Given the description of an element on the screen output the (x, y) to click on. 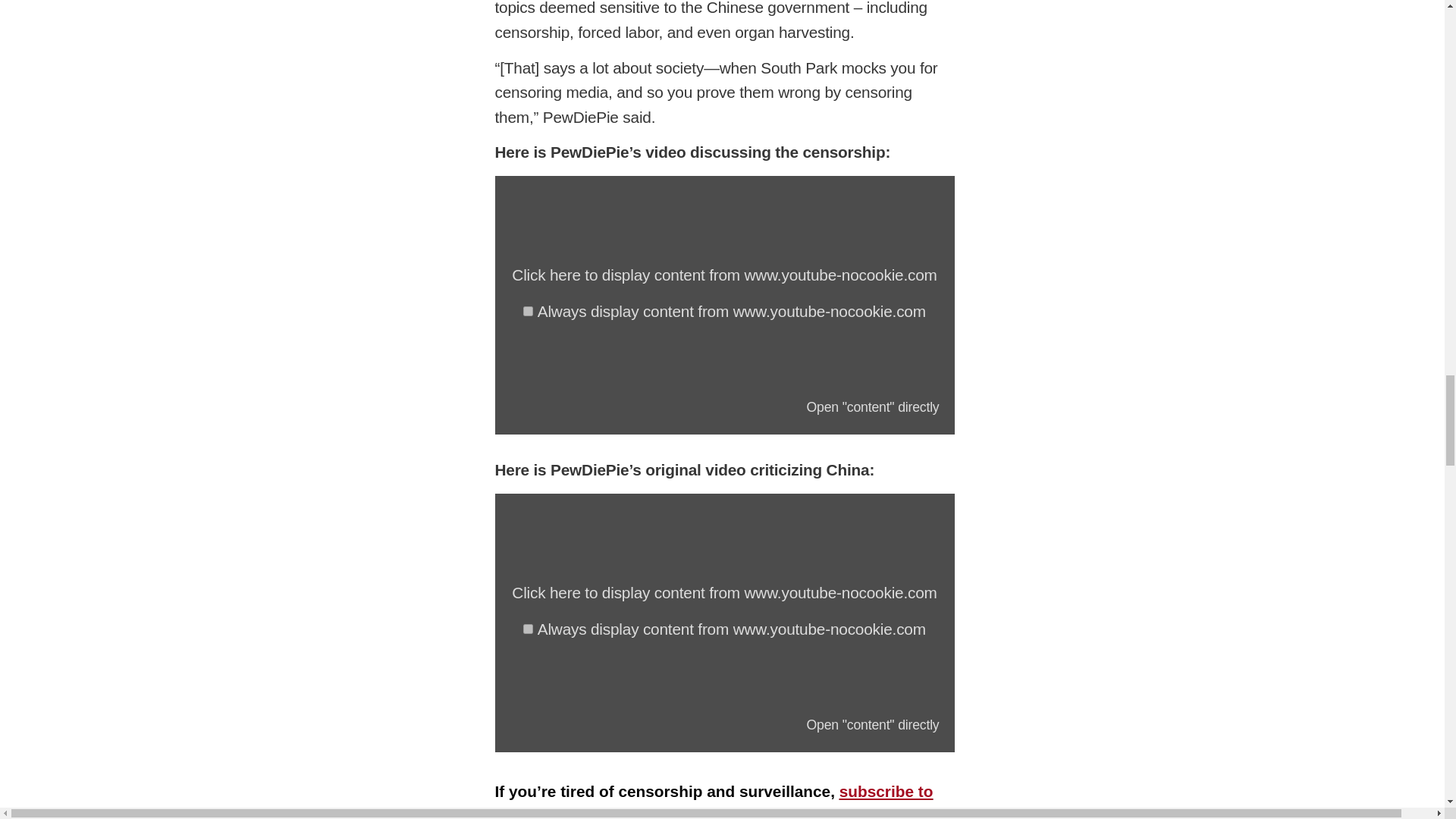
1 (527, 311)
Open "content" directly (872, 724)
subscribe to Reclaim The Net. (714, 800)
Open "content" directly (872, 406)
1 (527, 628)
